Given the description of an element on the screen output the (x, y) to click on. 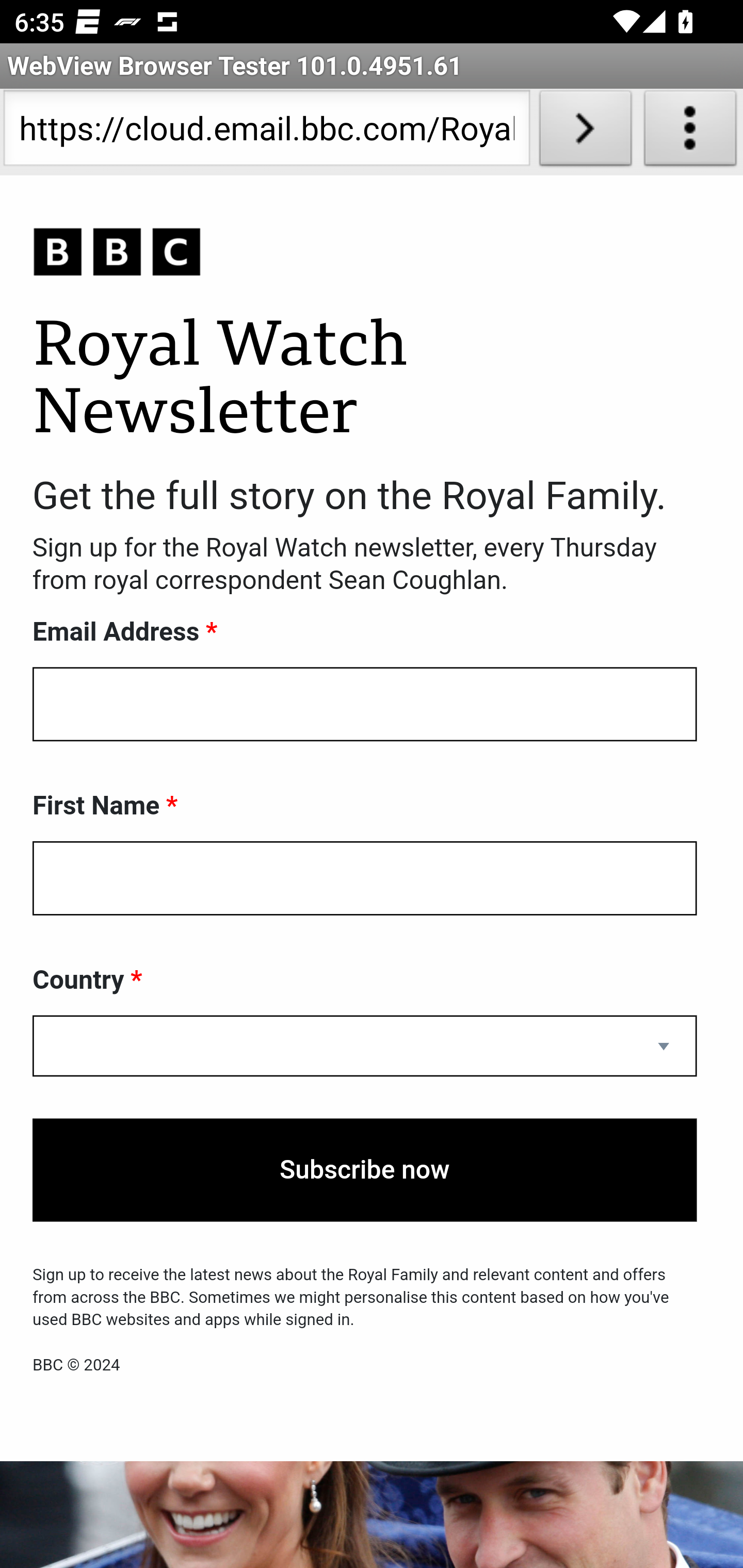
Load URL (585, 132)
About WebView (690, 132)
BBC (364, 253)
Subscribe now (364, 1170)
